Given the description of an element on the screen output the (x, y) to click on. 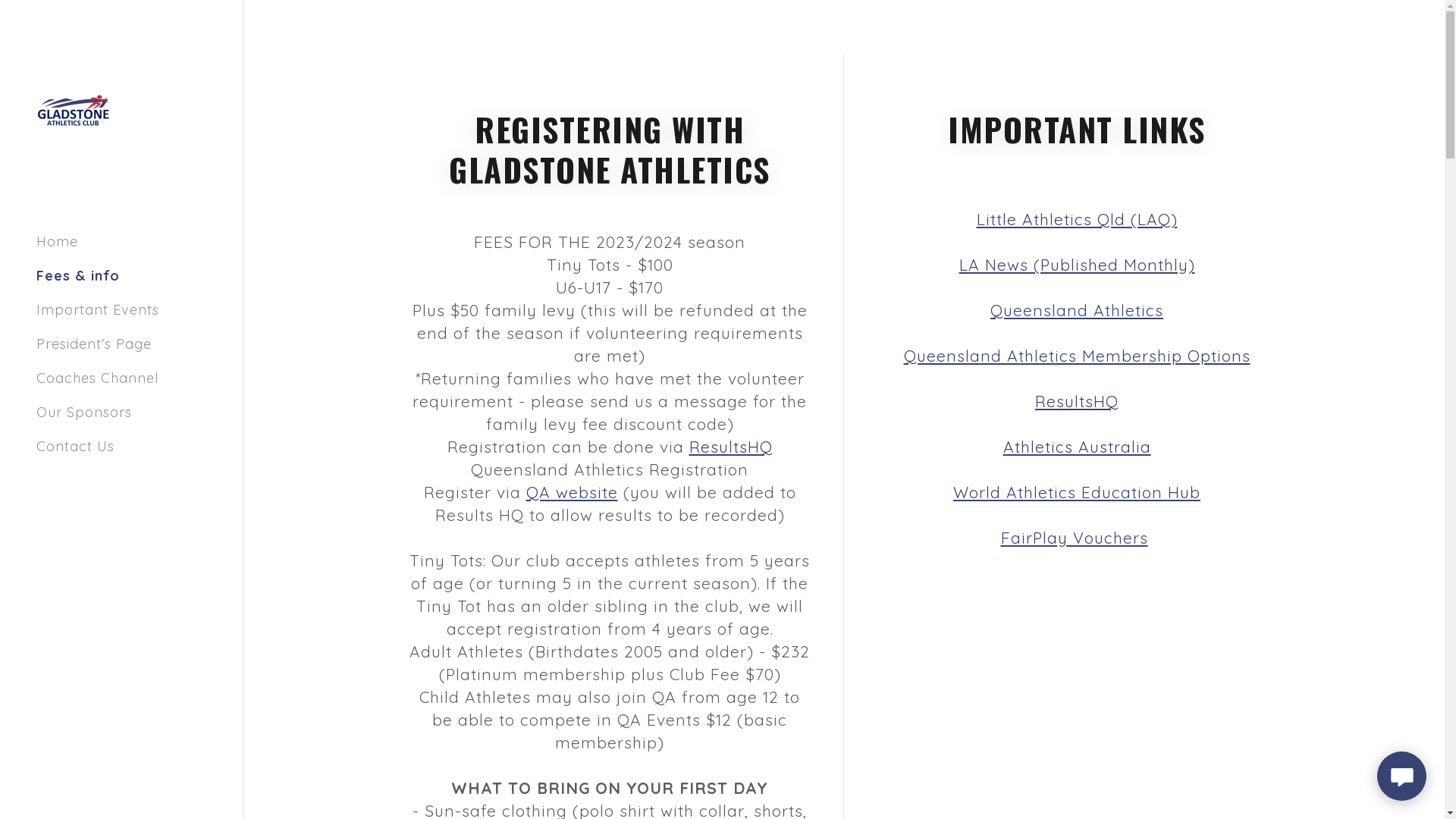
World Athletics Education Hub Element type: text (1076, 492)
Athletics Australia Element type: text (1076, 446)
ResultsHQ Element type: text (729, 446)
Contact Us Element type: text (75, 446)
QA website Element type: text (572, 492)
ResultsHQ Element type: text (1076, 401)
Home Element type: text (57, 241)
Our Sponsors Element type: text (83, 411)
Queensland Athletics Membership Options Element type: text (1076, 355)
Important Events Element type: text (97, 309)
FairPlay Vouchers Element type: text (1074, 537)
Gladstone Athletics Club Element type: hover (74, 109)
Fees & info Element type: text (77, 275)
Coaches Channel Element type: text (97, 377)
Little Athletics Qld (LAQ) Element type: text (1076, 219)
President's Page Element type: text (93, 343)
LA News (Published Monthly) Element type: text (1076, 264)
Queensland Athletics Element type: text (1076, 310)
